Given the description of an element on the screen output the (x, y) to click on. 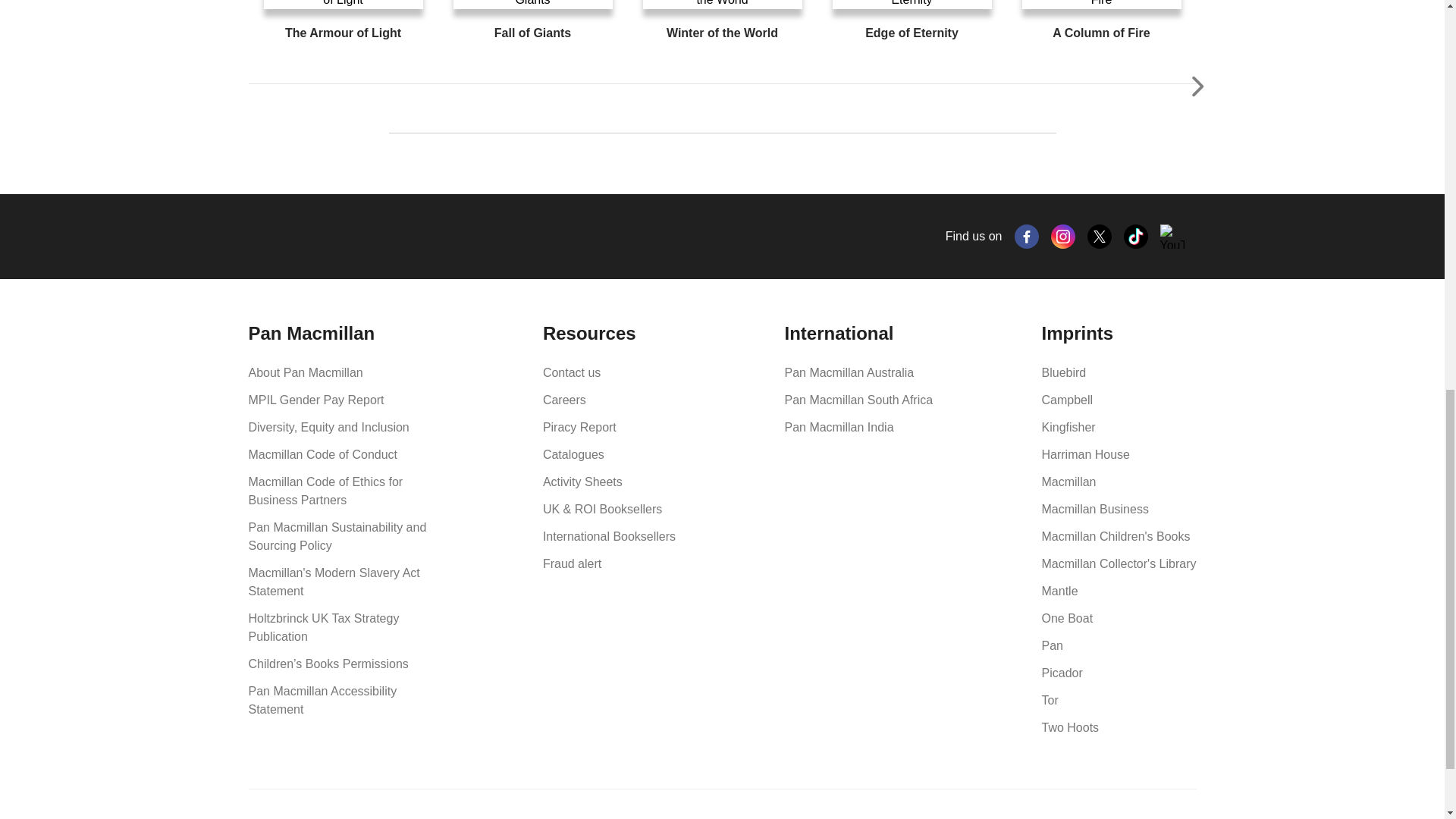
YouTube (1172, 236)
TikTok (1136, 236)
Facebook (1026, 236)
Instagram (1063, 236)
